Given the description of an element on the screen output the (x, y) to click on. 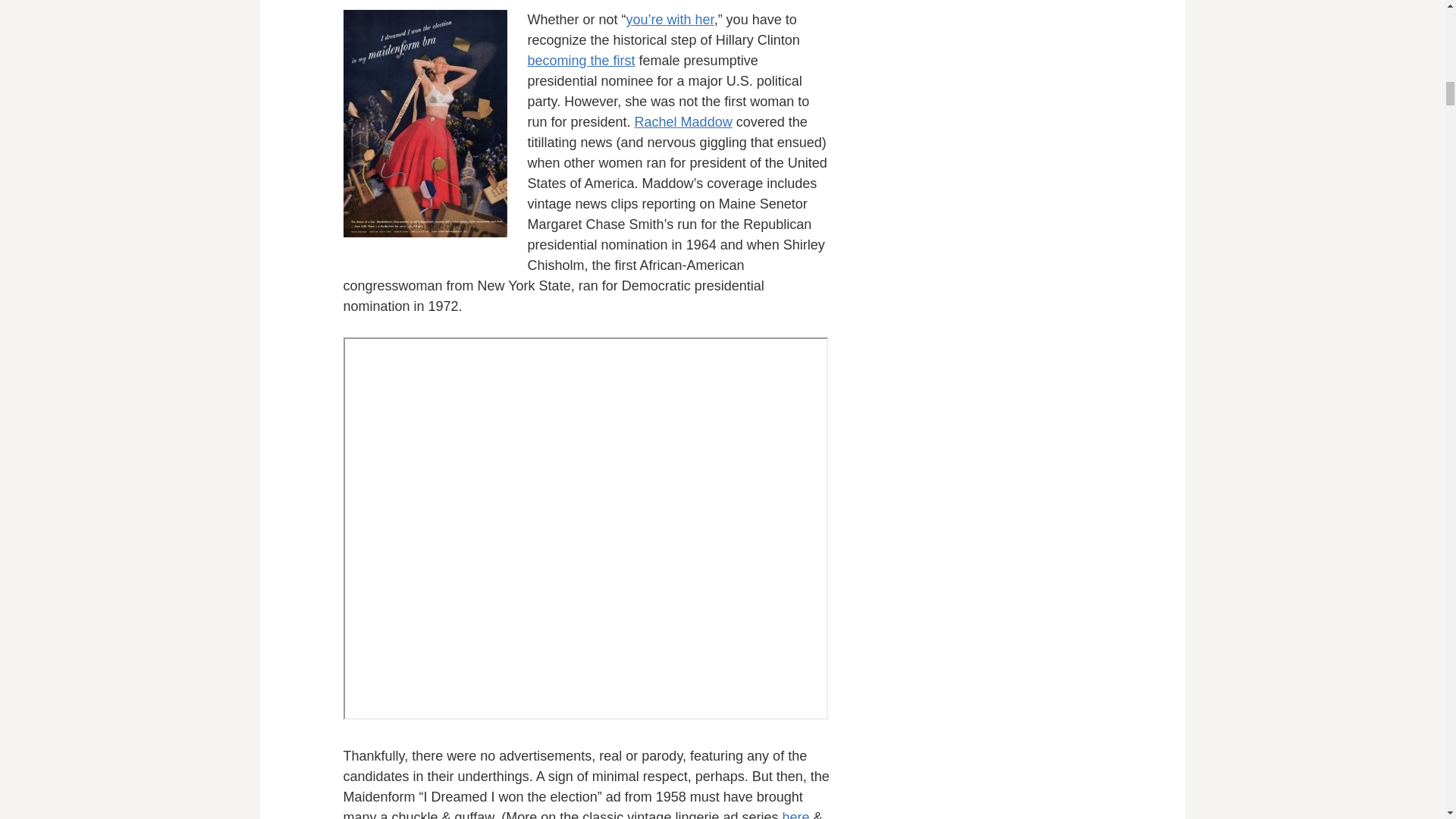
becoming the first (580, 60)
Rachel Maddow (683, 121)
here (795, 814)
